Given the description of an element on the screen output the (x, y) to click on. 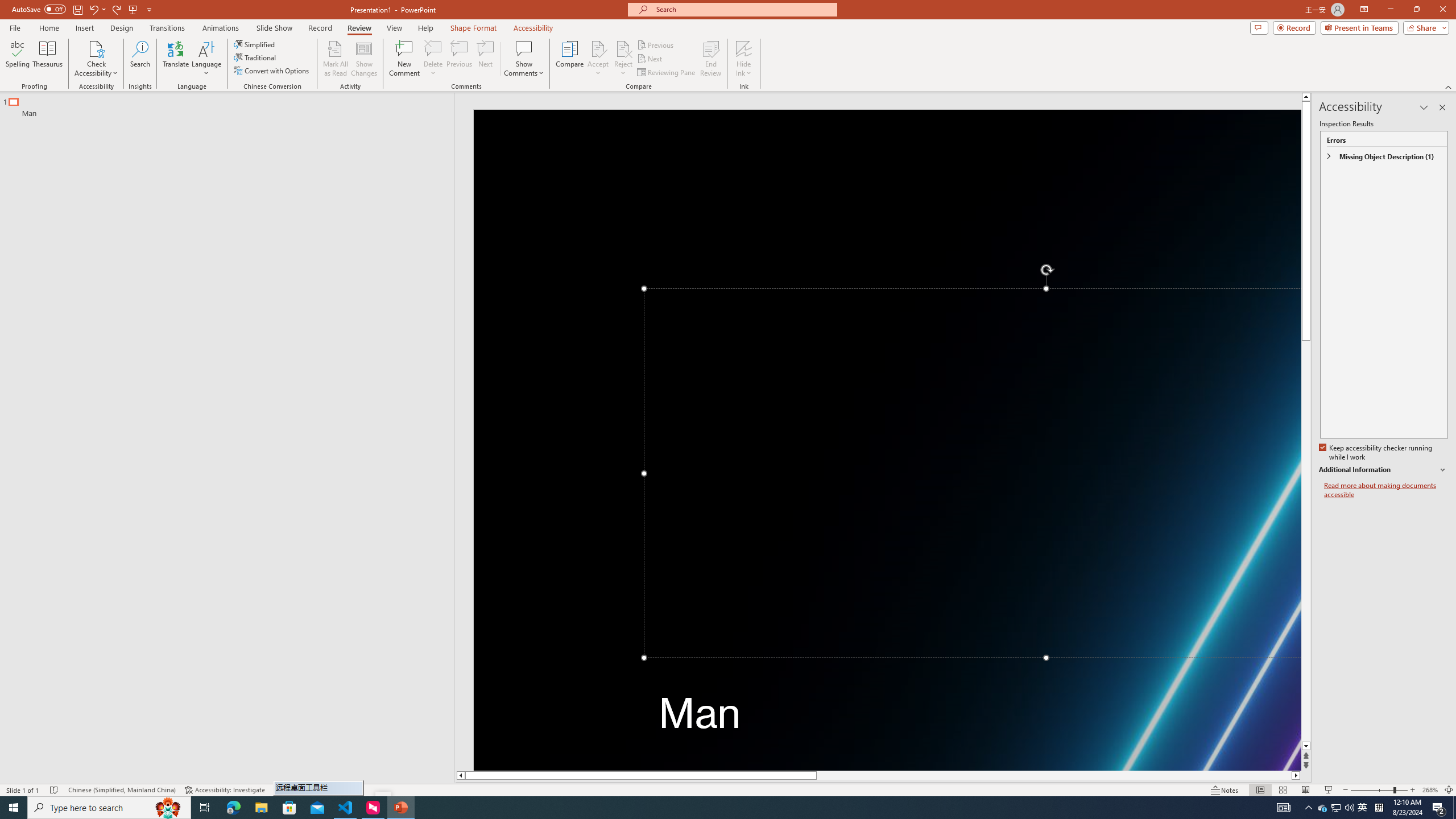
Keep accessibility checker running while I work (1376, 452)
Translate (175, 58)
Accept (598, 58)
